Given the description of an element on the screen output the (x, y) to click on. 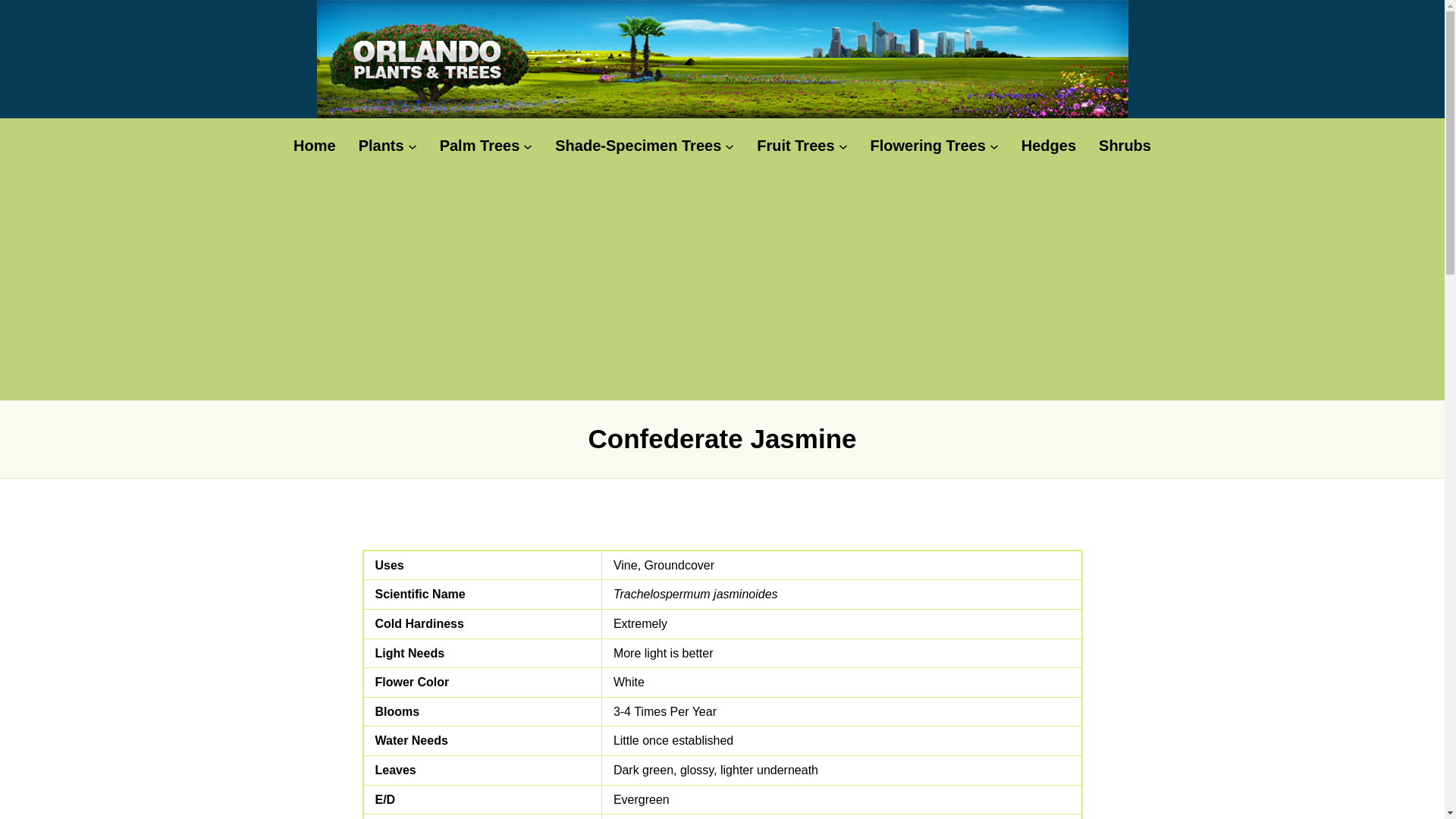
Palm Trees (479, 145)
Home (315, 145)
Shade-Specimen Trees (637, 145)
Plants (381, 145)
